Given the description of an element on the screen output the (x, y) to click on. 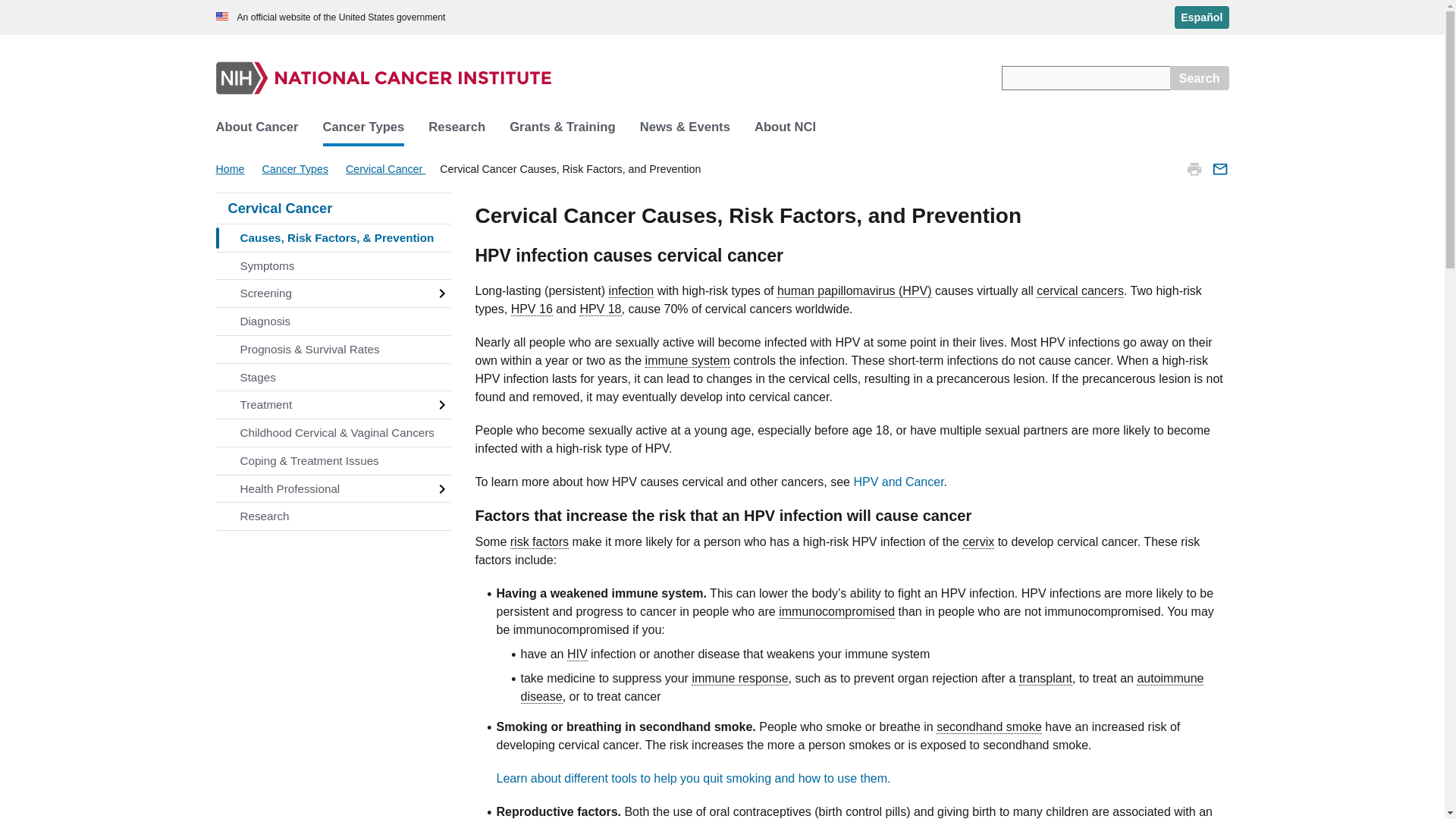
HPV 18 (600, 309)
Stages (332, 377)
HIV (577, 653)
Health Professional (332, 488)
Diagnosis (332, 320)
Cancer Types (363, 127)
infection (630, 291)
Cervical Cancer (332, 208)
About NCI (785, 127)
immunocompromised (836, 612)
